Given the description of an element on the screen output the (x, y) to click on. 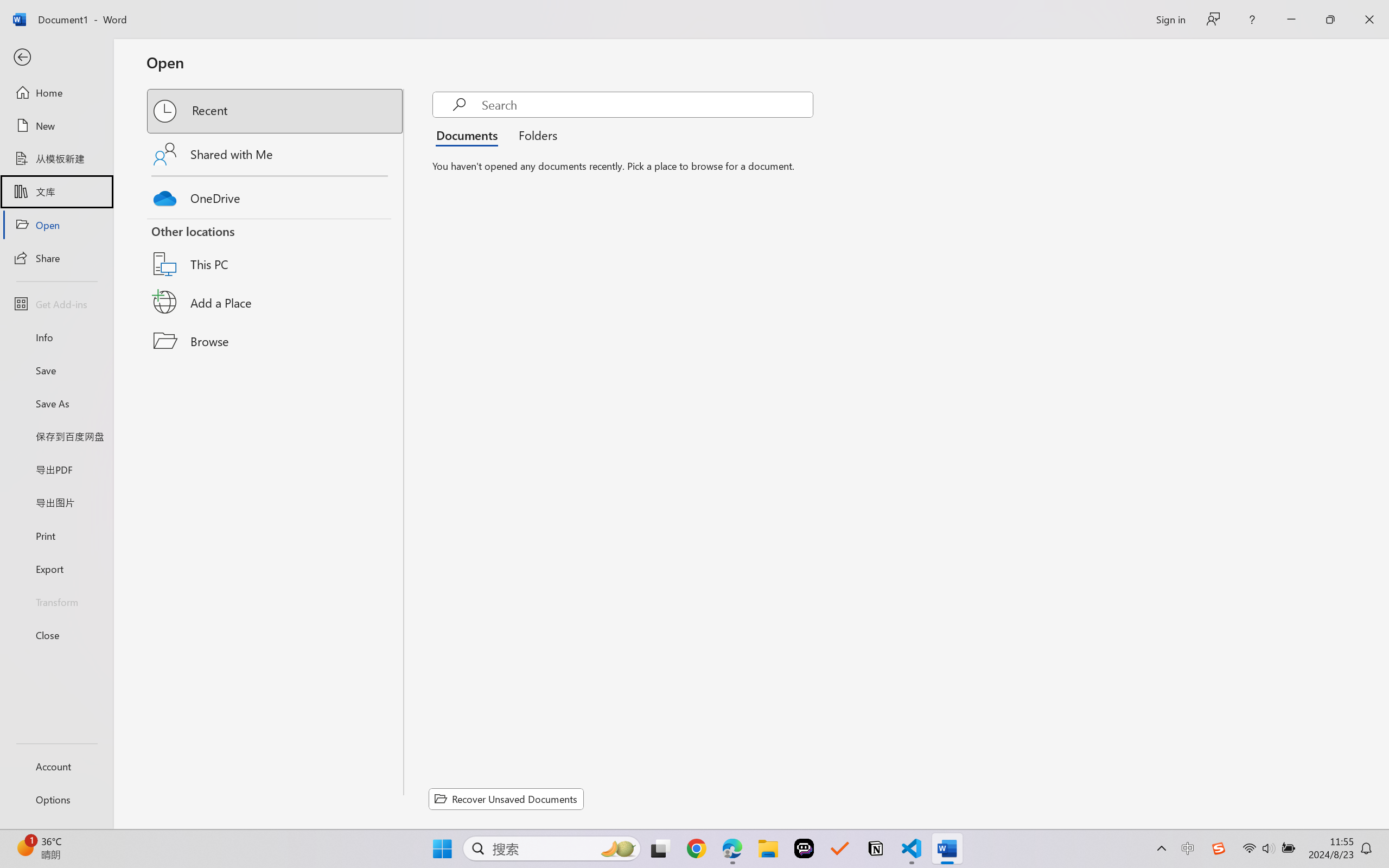
Export (56, 568)
Info (56, 337)
New (56, 125)
OneDrive (275, 195)
Folders (534, 134)
Documents (469, 134)
Transform (56, 601)
Save As (56, 403)
Get Add-ins (56, 303)
